Given the description of an element on the screen output the (x, y) to click on. 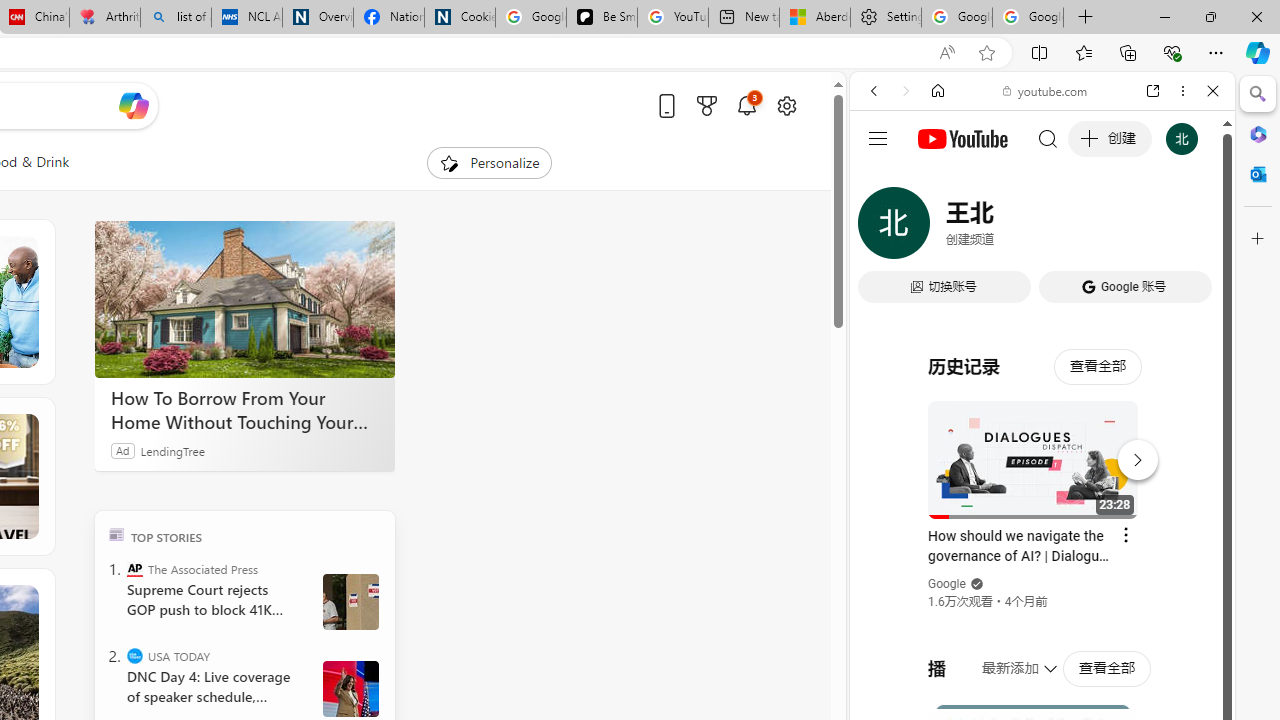
Search videos from youtube.com (1005, 657)
Show More Music (1164, 546)
SEARCH TOOLS (1093, 228)
Notifications (746, 105)
Aberdeen, Hong Kong SAR hourly forecast | Microsoft Weather (814, 17)
Class: b_serphb (1190, 229)
